Given the description of an element on the screen output the (x, y) to click on. 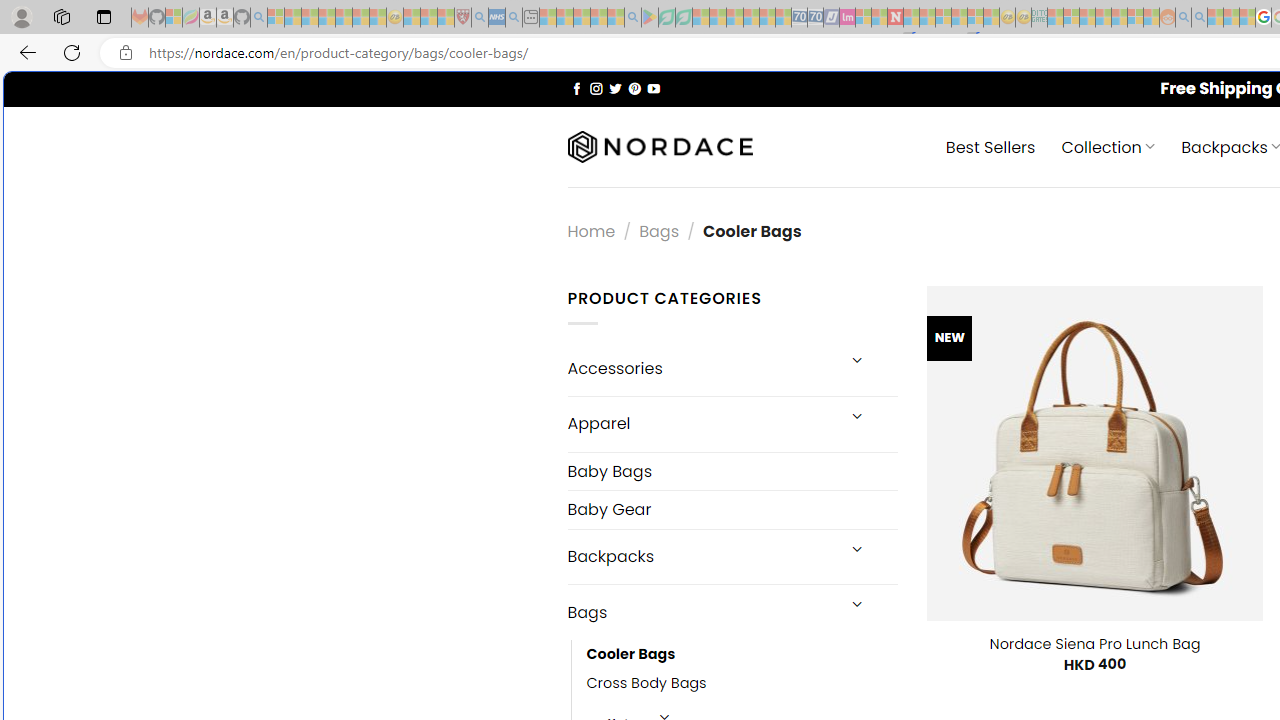
Apparel (700, 423)
Baby Gear (732, 510)
Follow on Facebook (576, 88)
